Given the description of an element on the screen output the (x, y) to click on. 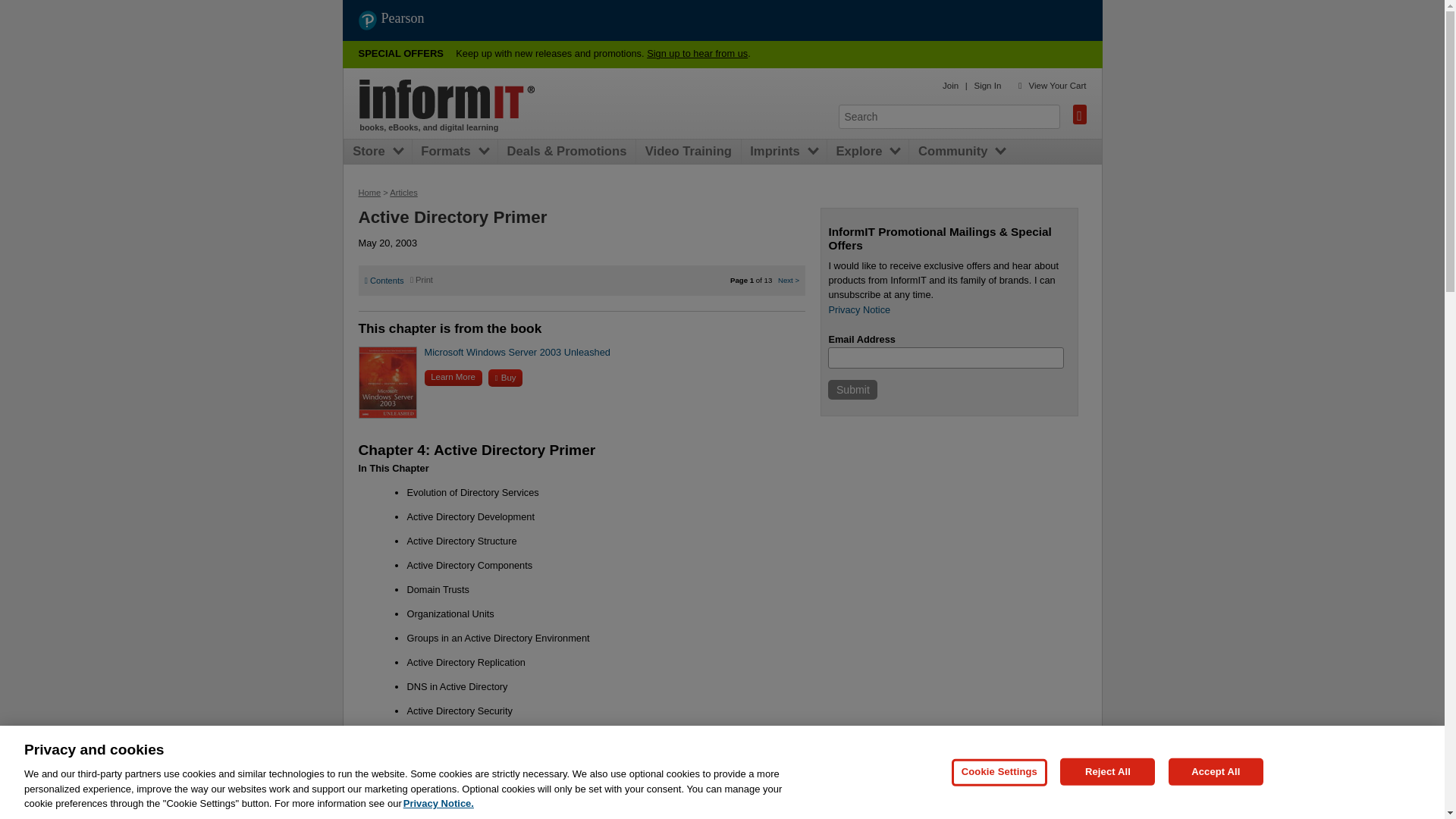
Sign up to hear from us (697, 52)
Learn More (453, 377)
Home (446, 98)
Submit (852, 389)
View Your Cart (1057, 85)
Home (369, 192)
Privacy Notice (858, 309)
Submit (852, 389)
Print (421, 279)
Join (950, 85)
Articles (403, 192)
Sign In (987, 85)
Microsoft Windows Server 2003 Unleashed (517, 351)
